Given the description of an element on the screen output the (x, y) to click on. 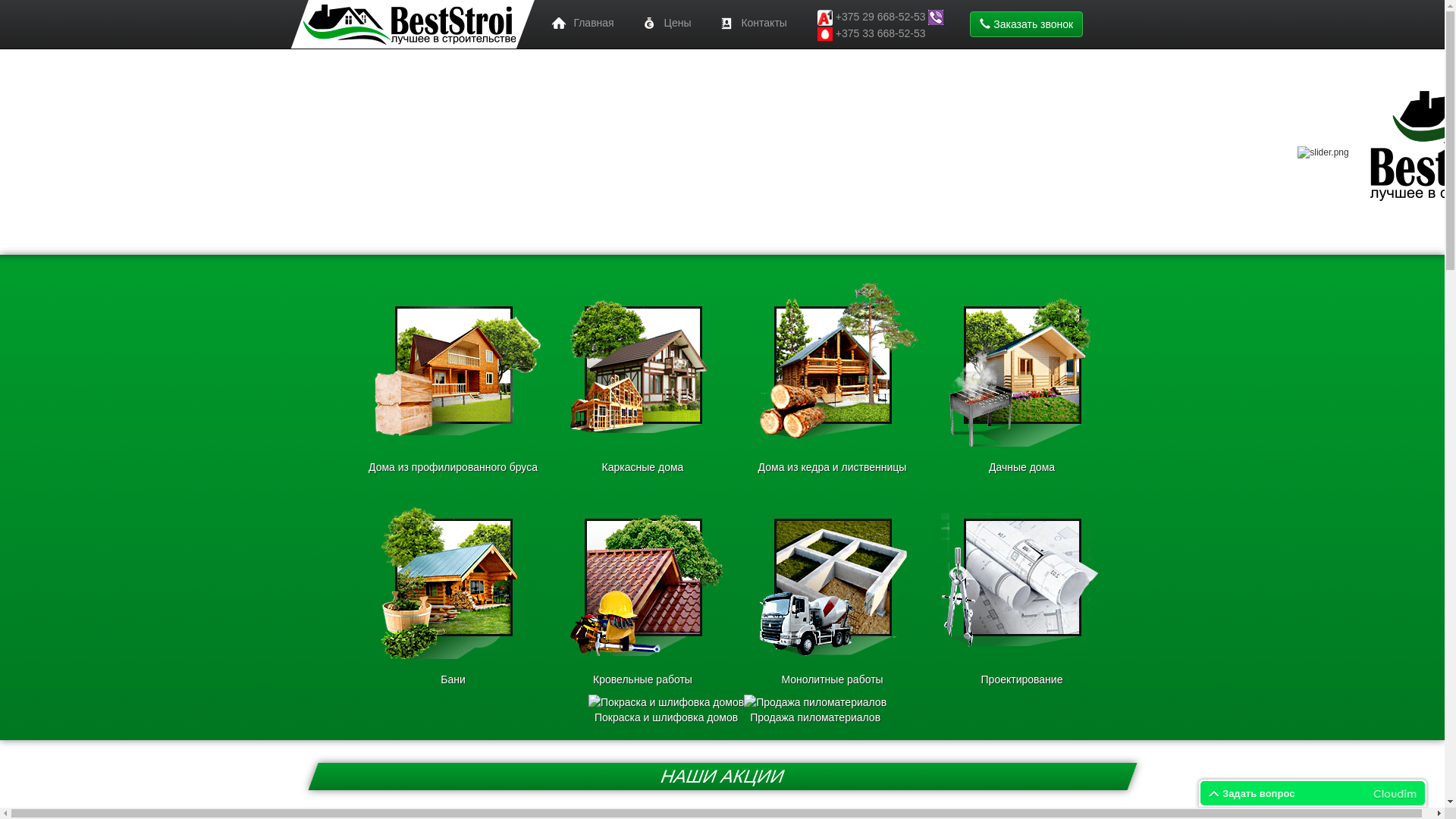
+375 33 668-52-53 Element type: text (880, 32)
